Given the description of an element on the screen output the (x, y) to click on. 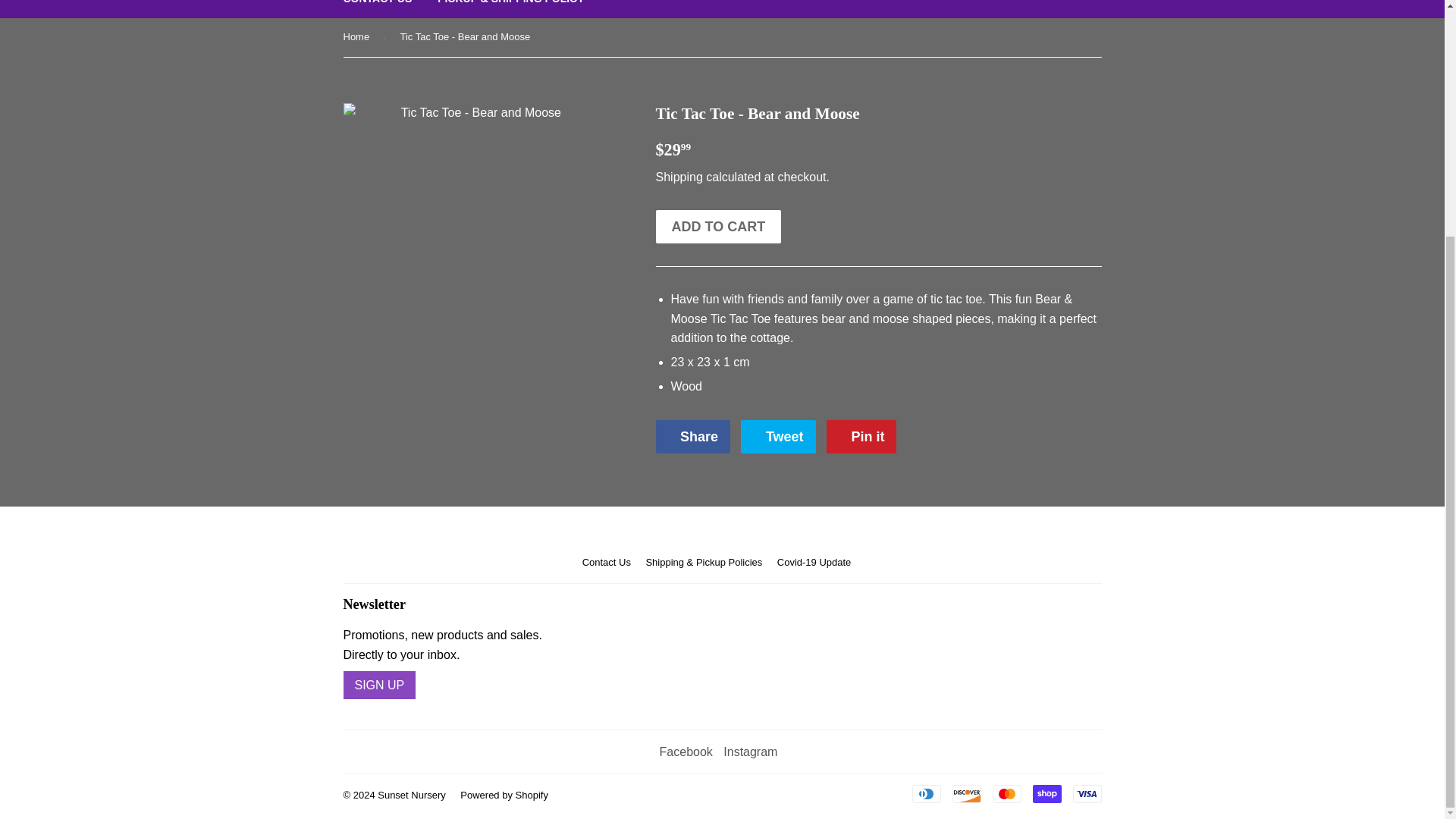
Visa (1085, 793)
Pin on Pinterest (861, 436)
Discover (966, 793)
Tweet on Twitter (778, 436)
Sunset Nursery on Facebook (686, 751)
Sunset Nursery on Instagram (750, 751)
Mastercard (1005, 793)
Diners Club (925, 793)
Share on Facebook (692, 436)
Shop Pay (1046, 793)
